Given the description of an element on the screen output the (x, y) to click on. 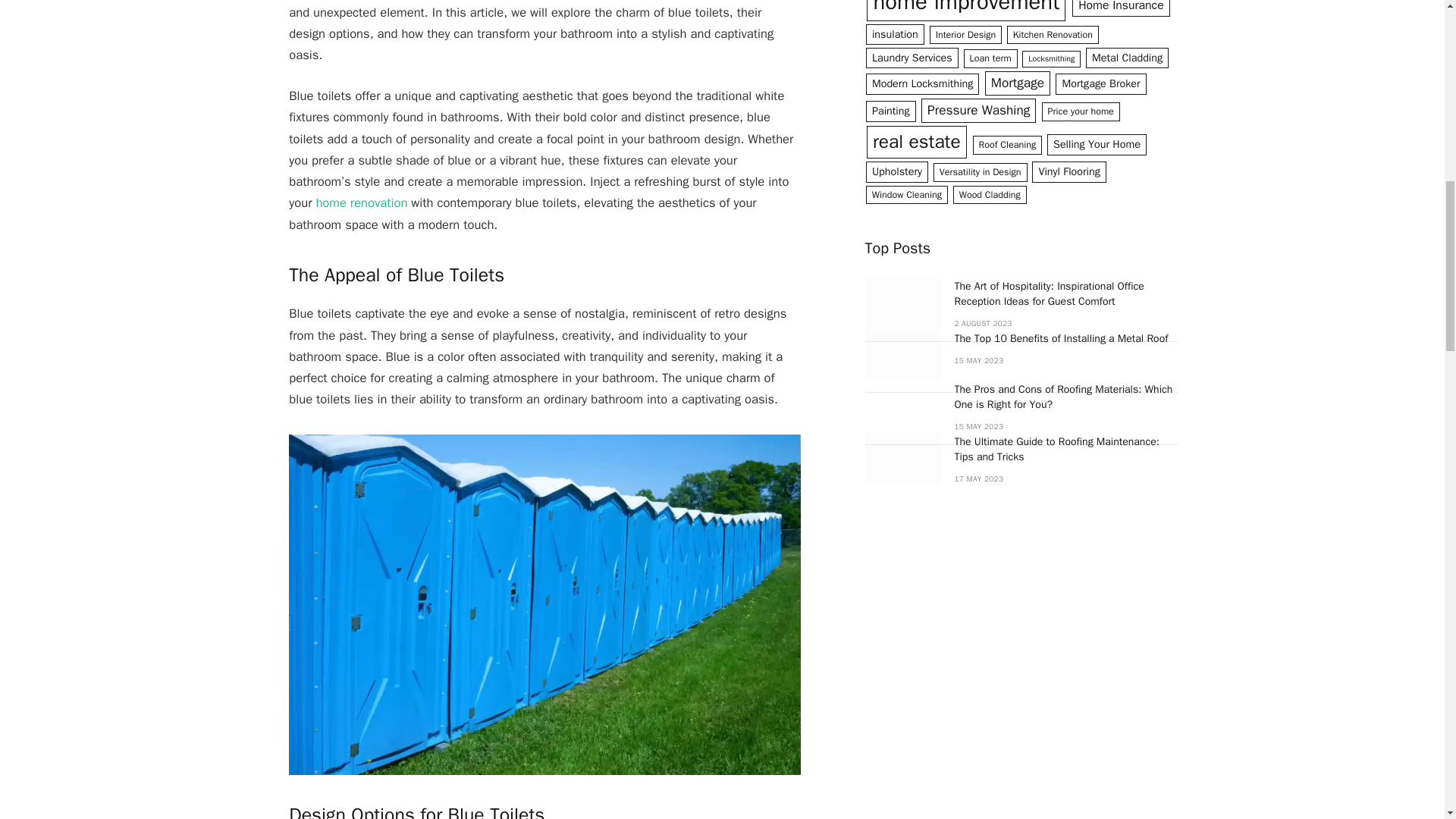
The Ultimate Guide to Roofing Maintenance: Tips and Tricks (902, 458)
The Top 10 Benefits of Installing a Metal Roof (902, 355)
